Given the description of an element on the screen output the (x, y) to click on. 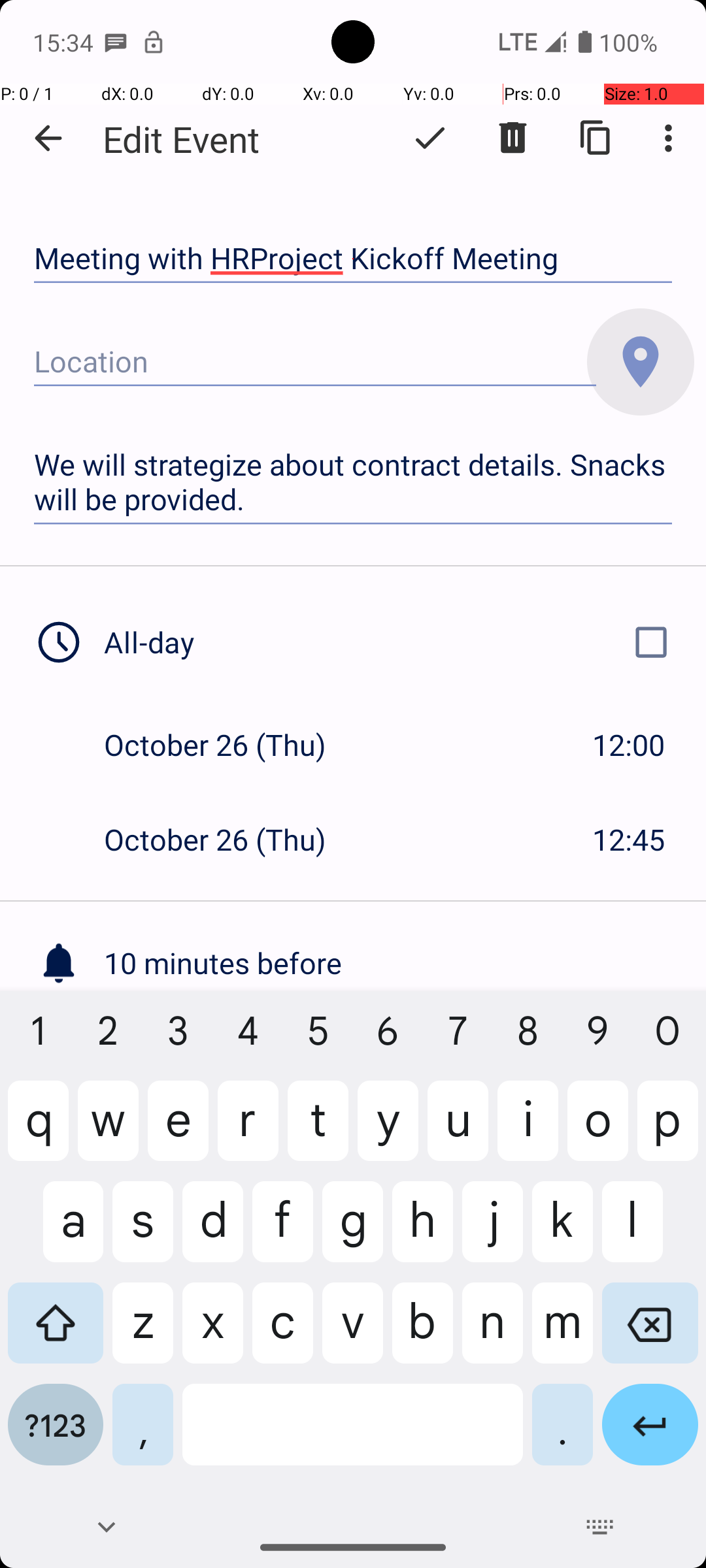
Meeting with HRProject Kickoff Meeting Element type: android.widget.EditText (352, 258)
We will strategize about contract details. Snacks will be provided. Element type: android.widget.EditText (352, 482)
October 26 (Thu) Element type: android.widget.TextView (228, 744)
12:45 Element type: android.widget.TextView (628, 838)
